Given the description of an element on the screen output the (x, y) to click on. 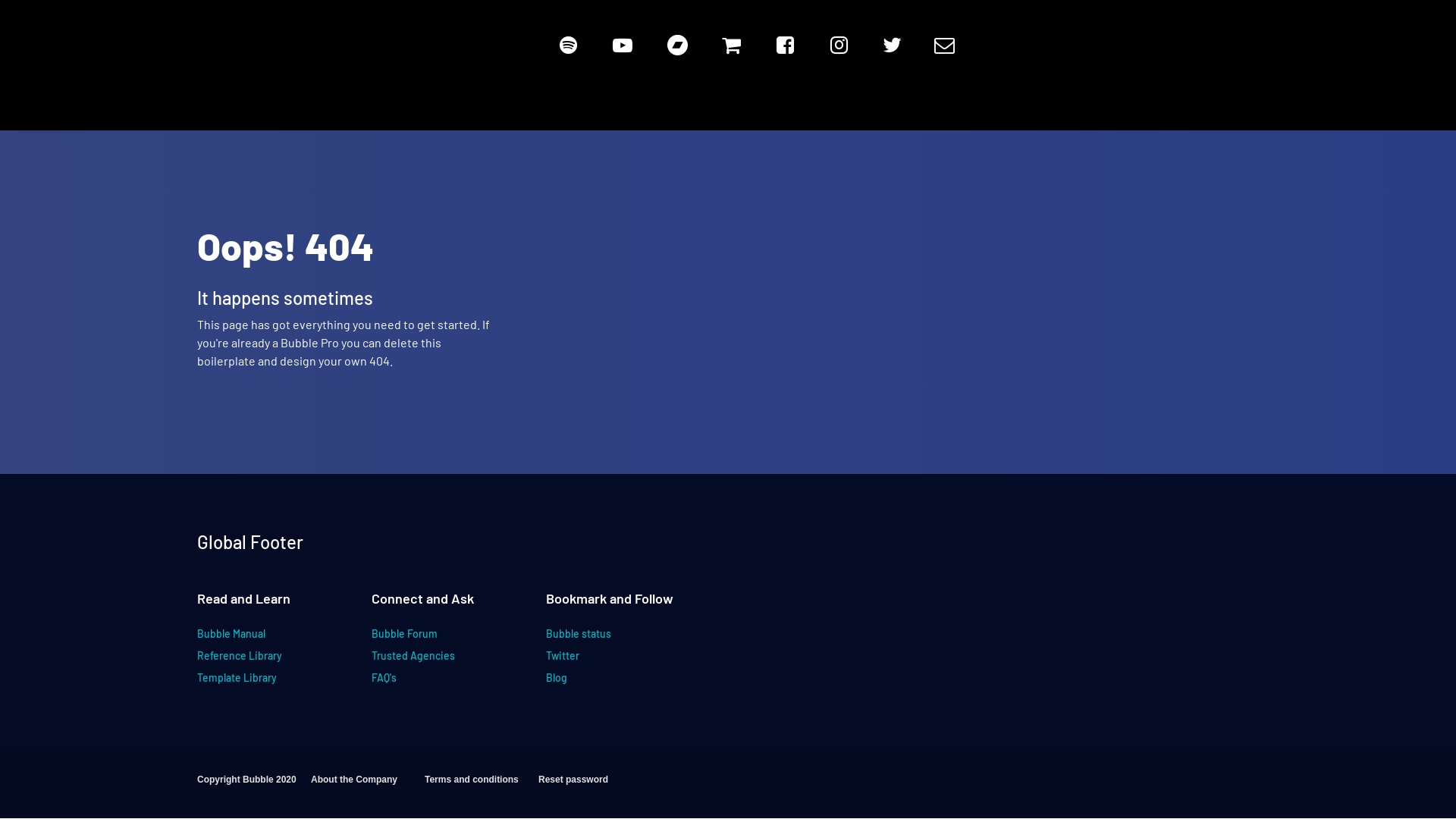
Bubble Forum Element type: text (428, 639)
Bubble Manual Element type: text (253, 639)
FAQ's Element type: text (428, 683)
Bubble status Element type: text (602, 639)
Blog Element type: text (602, 683)
Reference Library Element type: text (253, 661)
Copyright Bubble 2020 Element type: text (253, 786)
Terms and conditions Element type: text (481, 786)
even | mel vic au | since 1994 Element type: hover (177, 54)
Trusted Agencies Element type: text (428, 661)
About the Company Element type: text (367, 786)
Twitter Element type: text (602, 661)
Reset password Element type: text (595, 786)
Template Library Element type: text (253, 683)
